Given the description of an element on the screen output the (x, y) to click on. 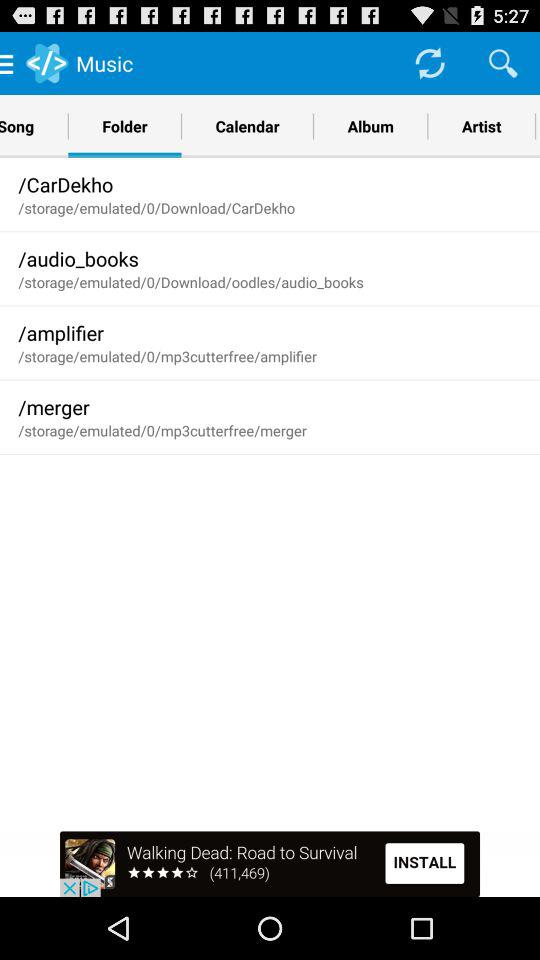
search (503, 62)
